Given the description of an element on the screen output the (x, y) to click on. 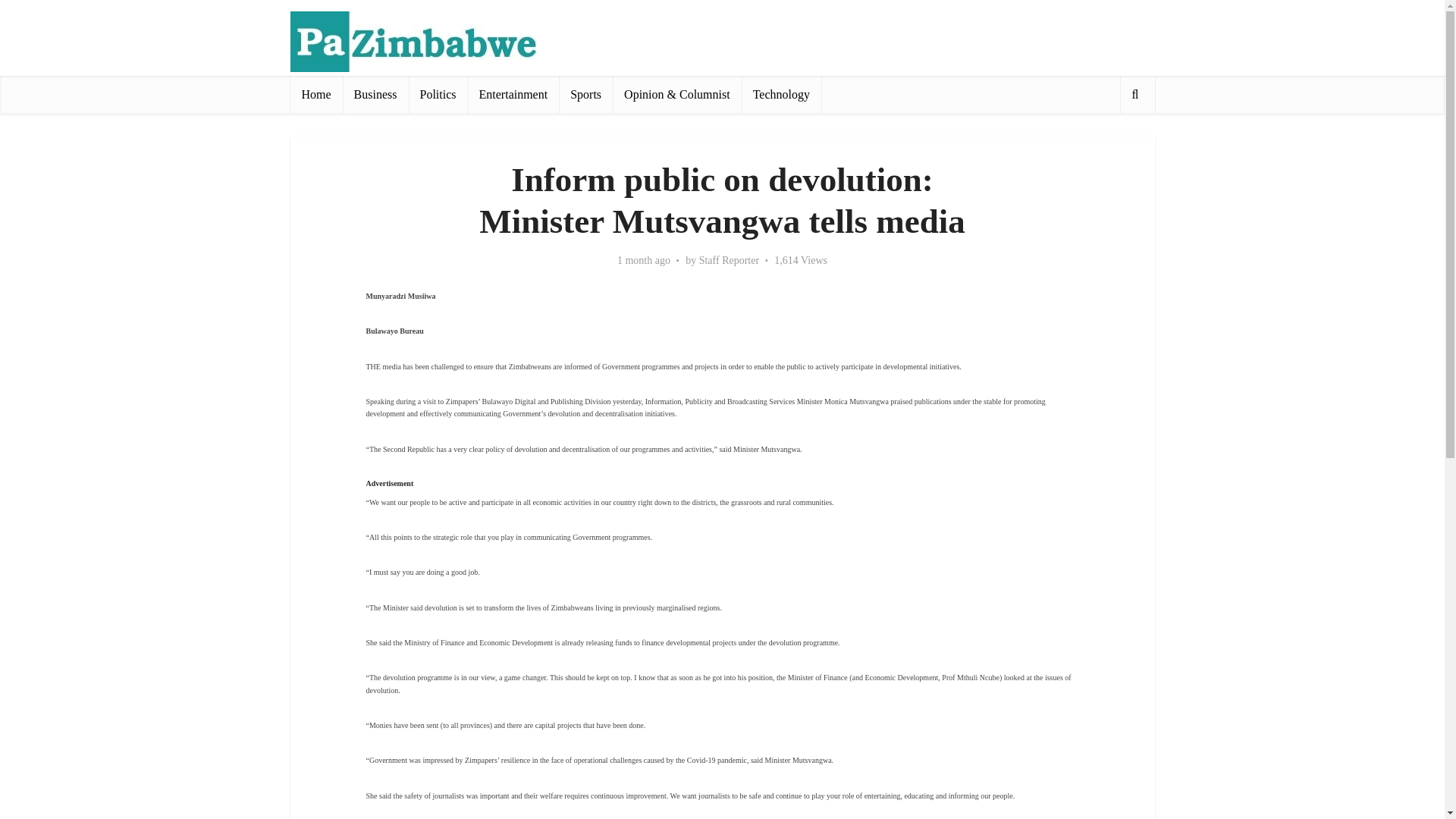
Technology (781, 94)
Staff Reporter (728, 260)
Sports (585, 94)
Entertainment (513, 94)
Politics (438, 94)
Business (375, 94)
Home (315, 94)
